Given the description of an element on the screen output the (x, y) to click on. 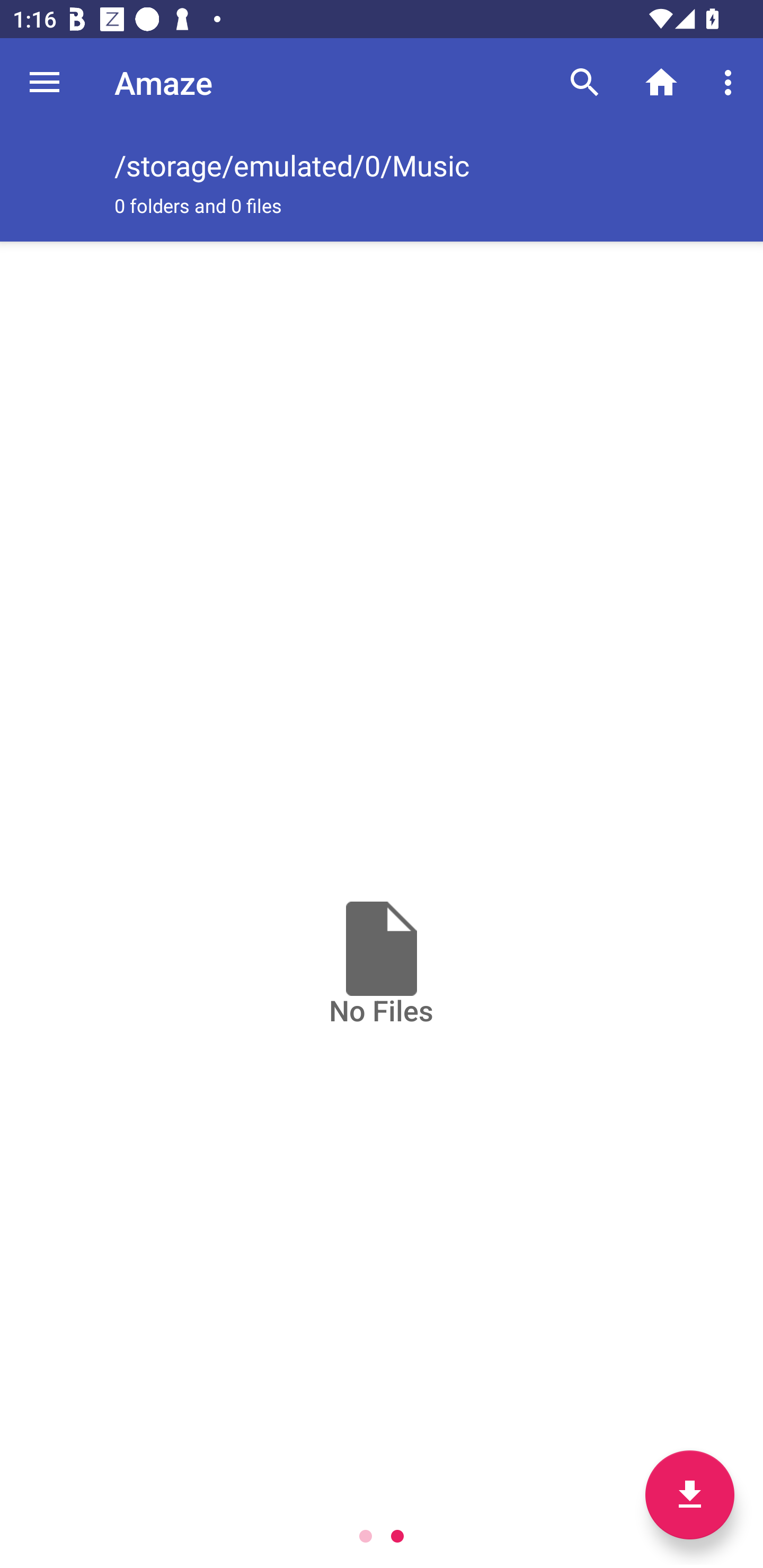
Navigate up (44, 82)
Search (585, 81)
Home (661, 81)
More options (731, 81)
